Given the description of an element on the screen output the (x, y) to click on. 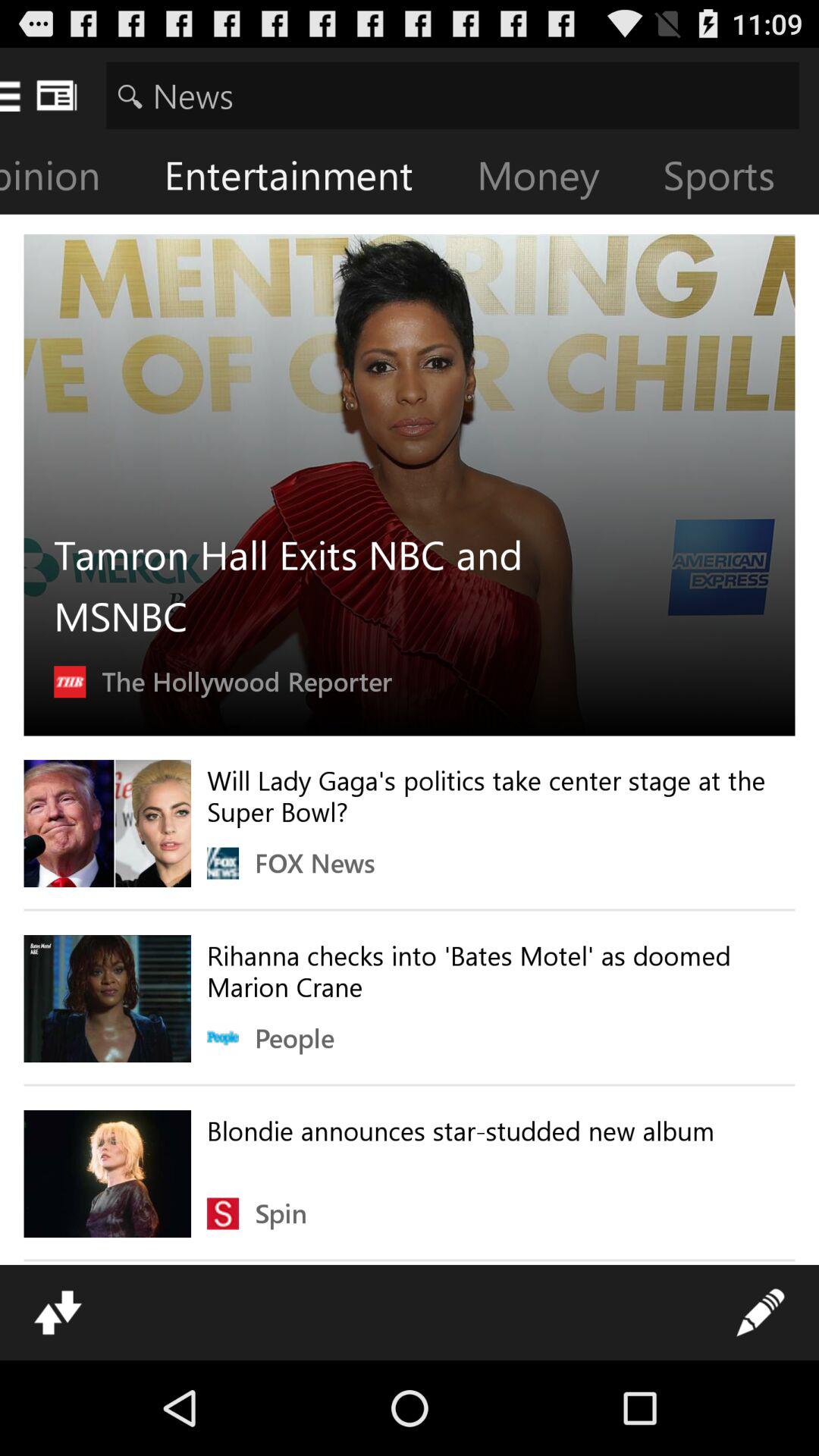
tap item next to the entertainment icon (72, 178)
